Given the description of an element on the screen output the (x, y) to click on. 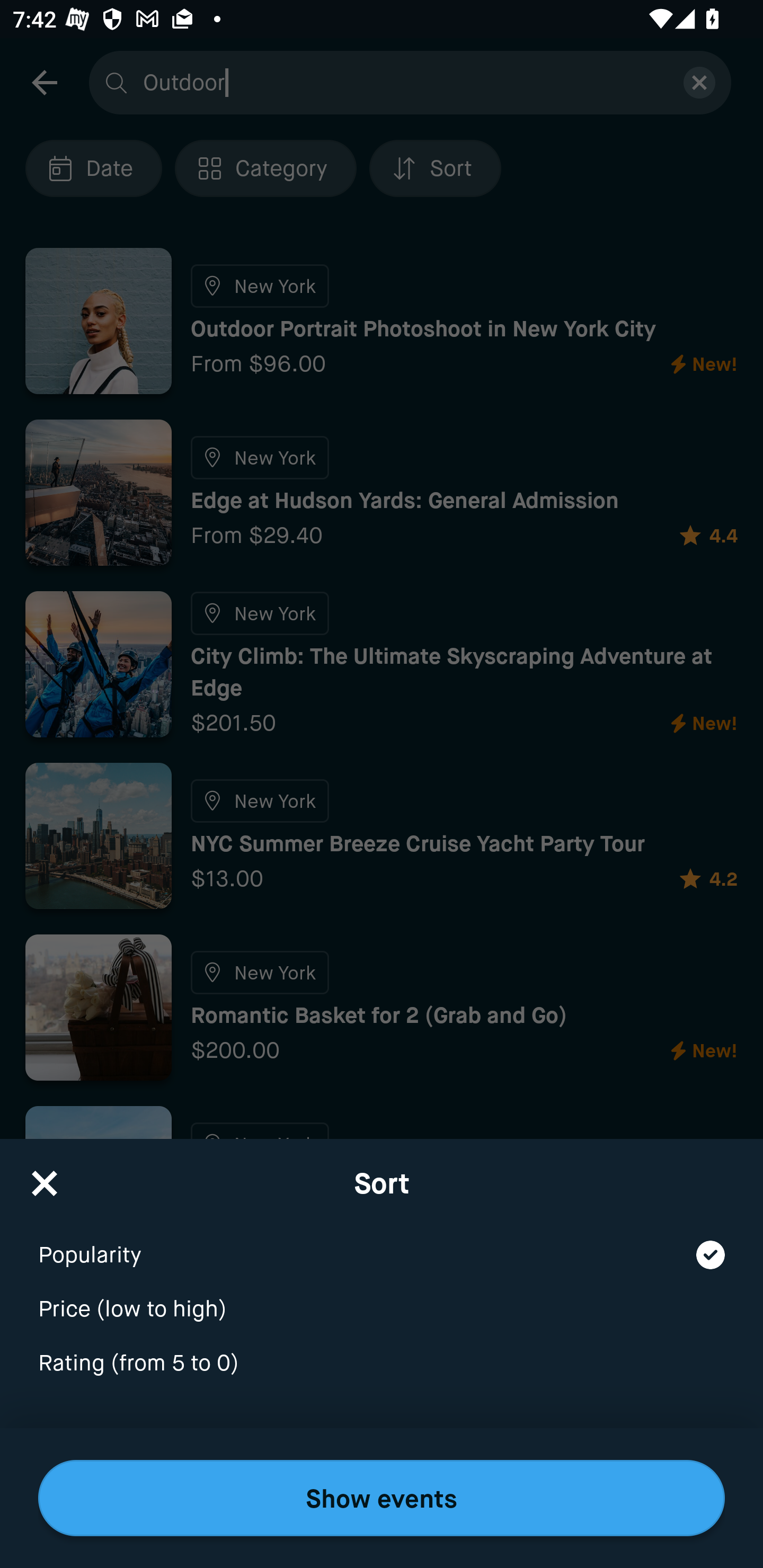
CloseButton (44, 1177)
Popularity Selected Icon (381, 1243)
Price (low to high) (381, 1297)
Rating (from 5 to 0) (381, 1362)
Show events (381, 1497)
